Given the description of an element on the screen output the (x, y) to click on. 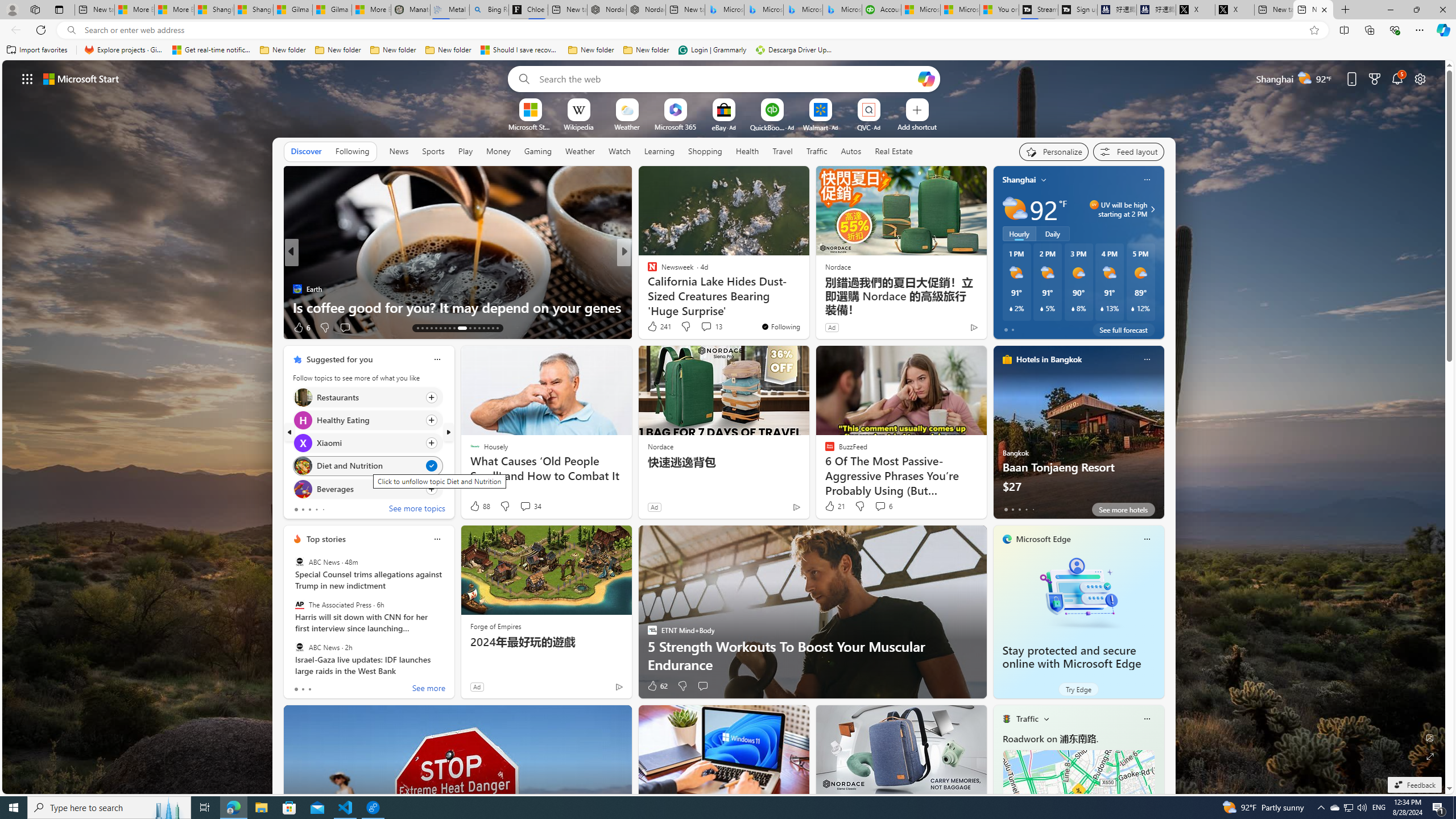
Daily (1052, 233)
previous (288, 432)
View comments 18 Comment (707, 327)
AutomationID: tab-22 (459, 328)
Accounting Software for Accountants, CPAs and Bookkeepers (881, 9)
Microsoft Bing Travel - Shangri-La Hotel Bangkok (842, 9)
Enter your search term (726, 78)
View comments 5 Comment (702, 327)
Microsoft Start (960, 9)
Microsoft Start Sports (529, 126)
View comments 18 Comment (703, 327)
Craft Your Happy Place (647, 288)
227 Like (654, 327)
Money (497, 151)
